Given the description of an element on the screen output the (x, y) to click on. 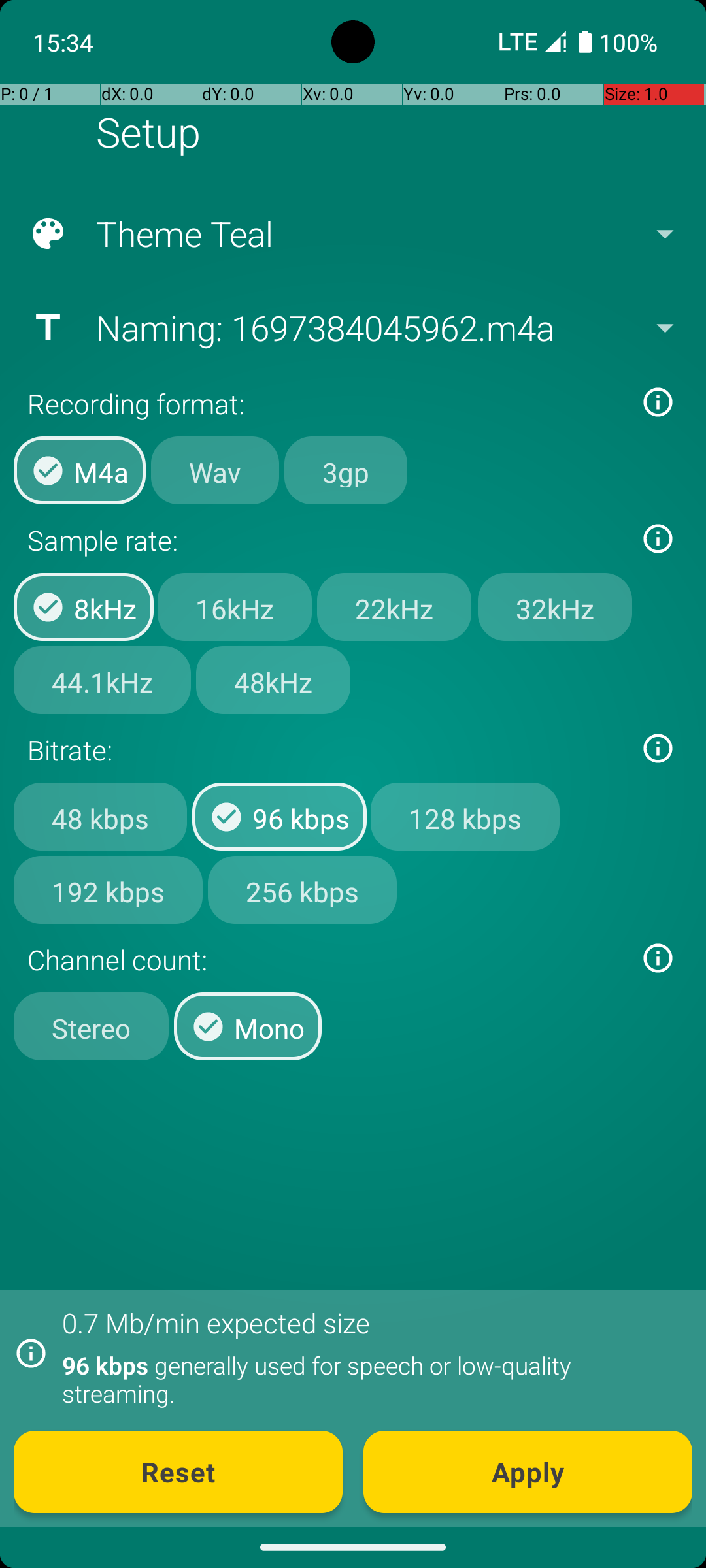
0.7 Mb/min expected size Element type: android.widget.TextView (215, 1322)
96 kbps generally used for speech or low-quality streaming. Element type: android.widget.TextView (370, 1378)
Naming: 1697384045962.m4a Element type: android.widget.TextView (352, 327)
